Given the description of an element on the screen output the (x, y) to click on. 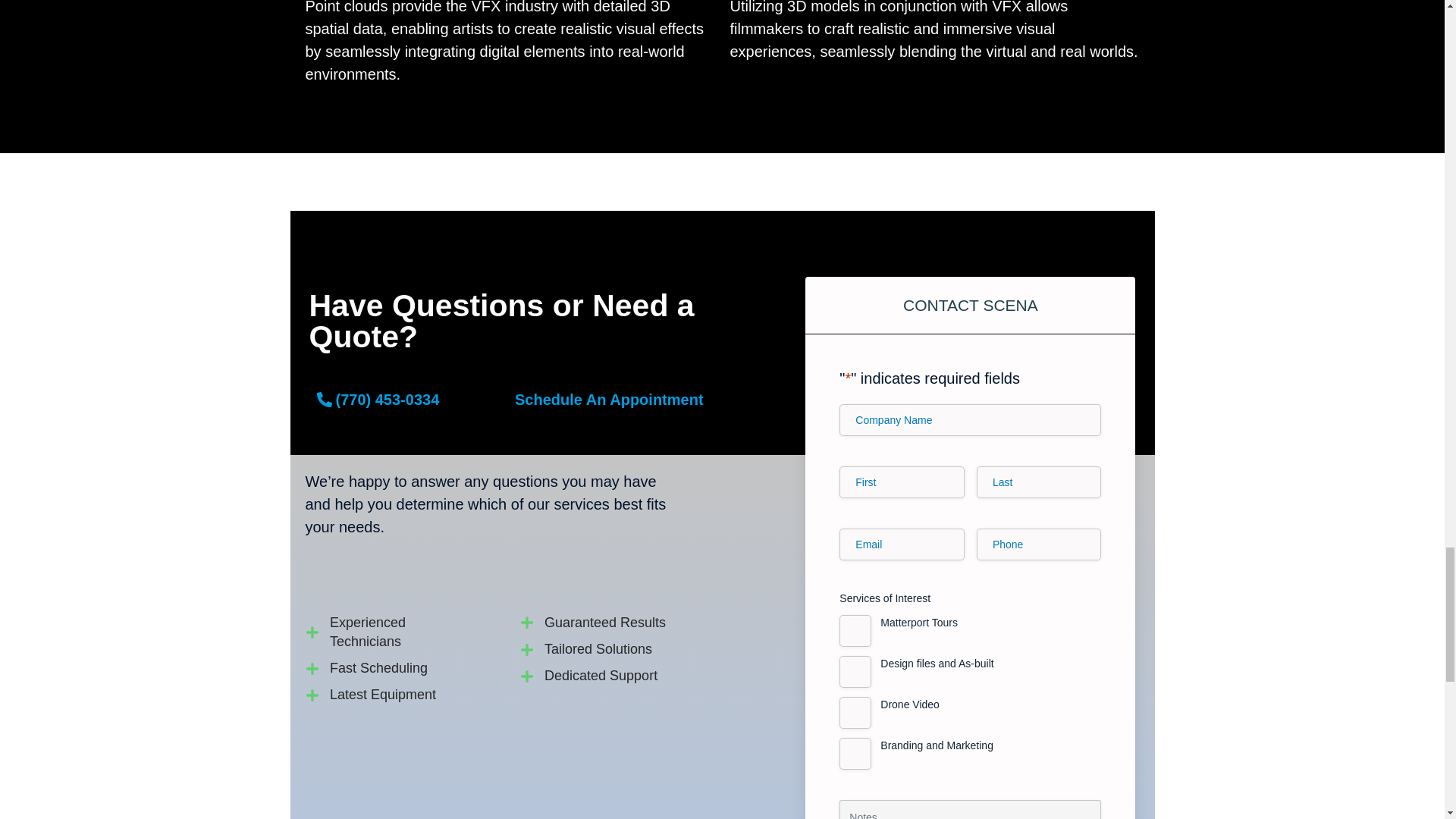
Branding and Marketing (855, 753)
Matterport Tours (855, 631)
Drone Video (855, 712)
Design files and As-built (855, 671)
